Given the description of an element on the screen output the (x, y) to click on. 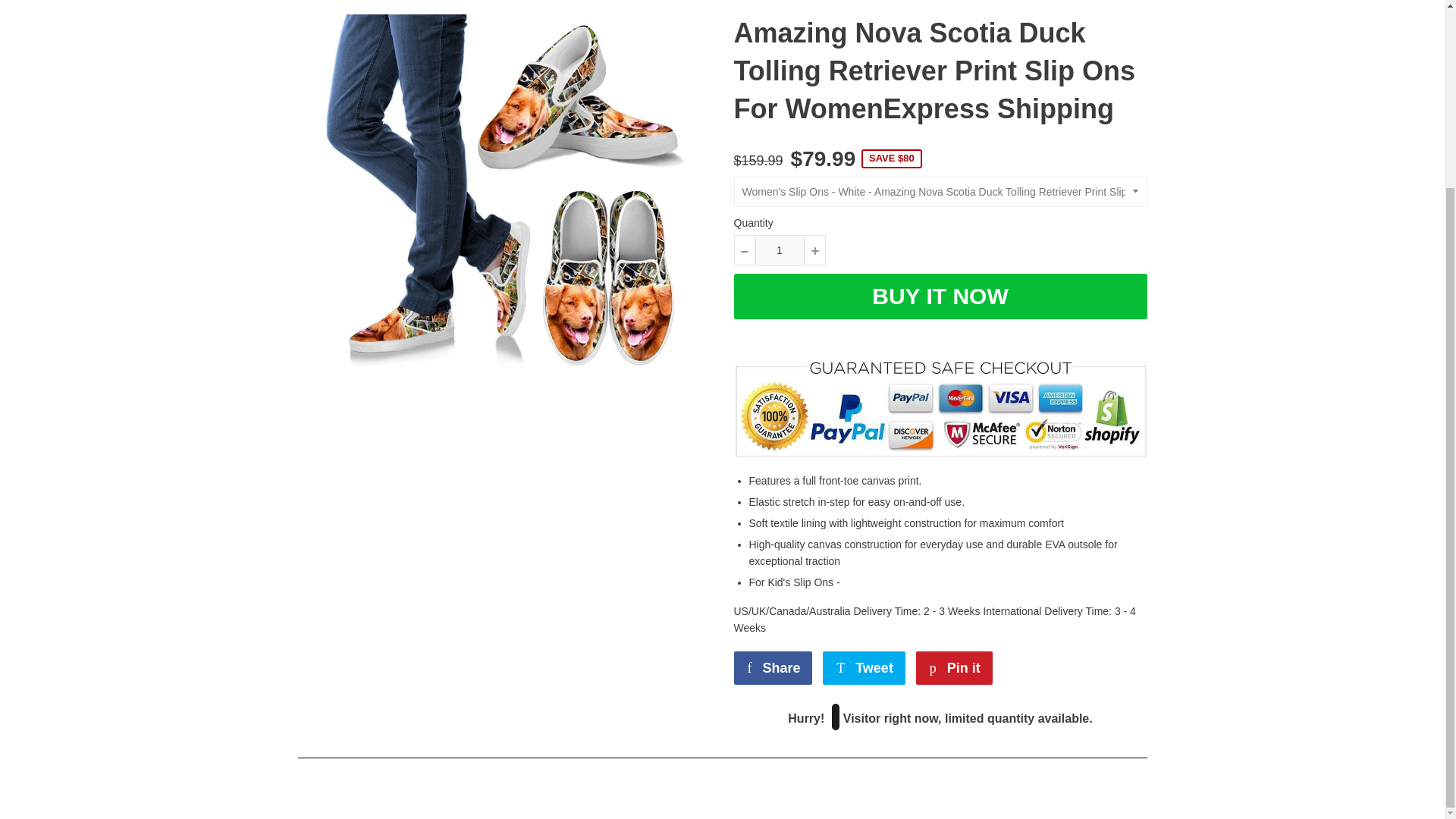
1 (780, 250)
